Given the description of an element on the screen output the (x, y) to click on. 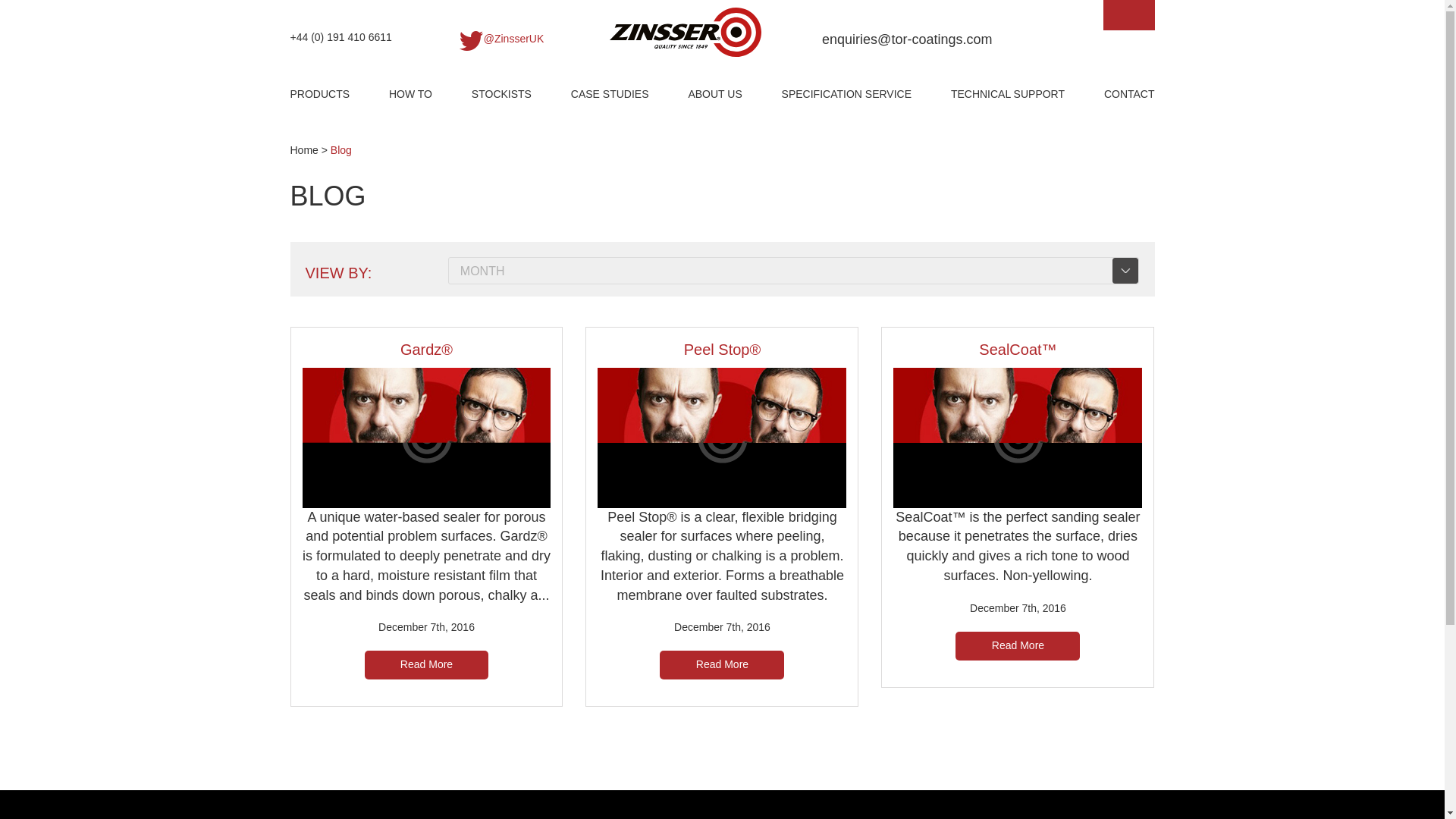
PRODUCTS (319, 94)
TECHNICAL SUPPORT (1007, 94)
ABOUT US (714, 94)
Home (303, 150)
SPECIFICATION SERVICE (846, 94)
STOCKISTS (501, 94)
Read More (721, 664)
Read More (425, 664)
CONTACT (1128, 94)
CASE STUDIES (609, 94)
